Given the description of an element on the screen output the (x, y) to click on. 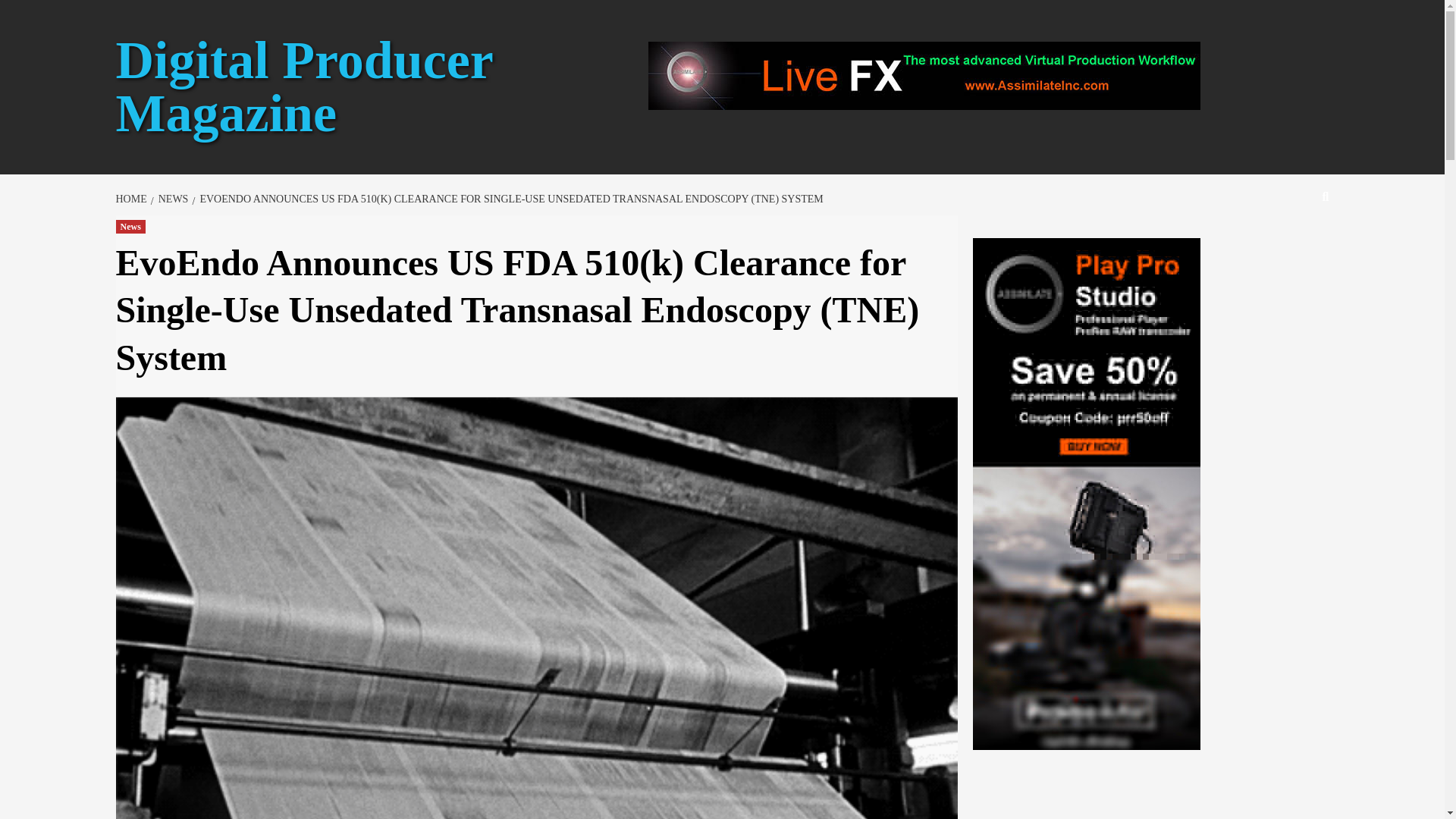
NEWS (171, 198)
Digital Producer Magazine (303, 86)
News (129, 226)
HOME (132, 198)
